Given the description of an element on the screen output the (x, y) to click on. 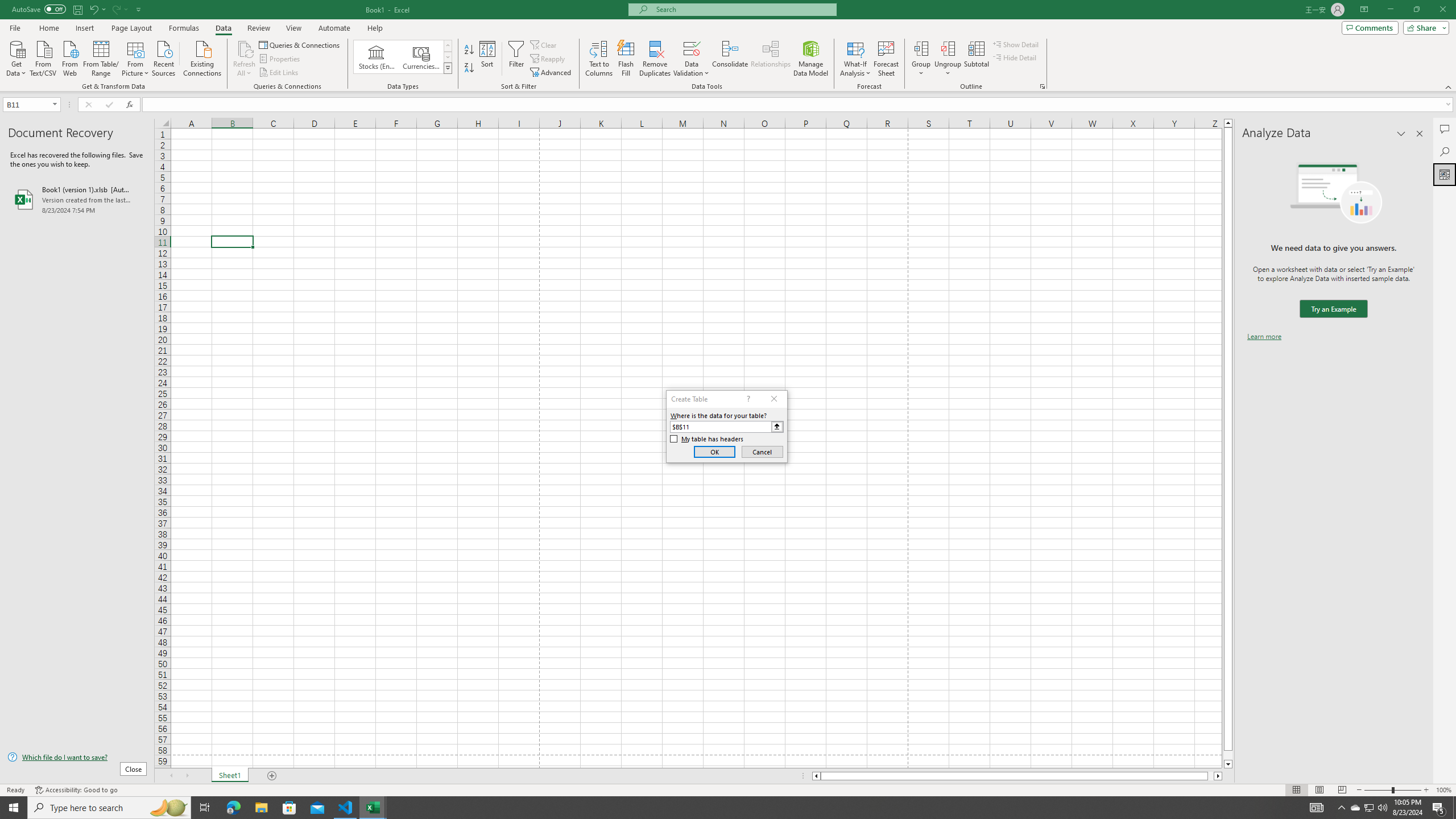
Consolidate... (729, 58)
